Given the description of an element on the screen output the (x, y) to click on. 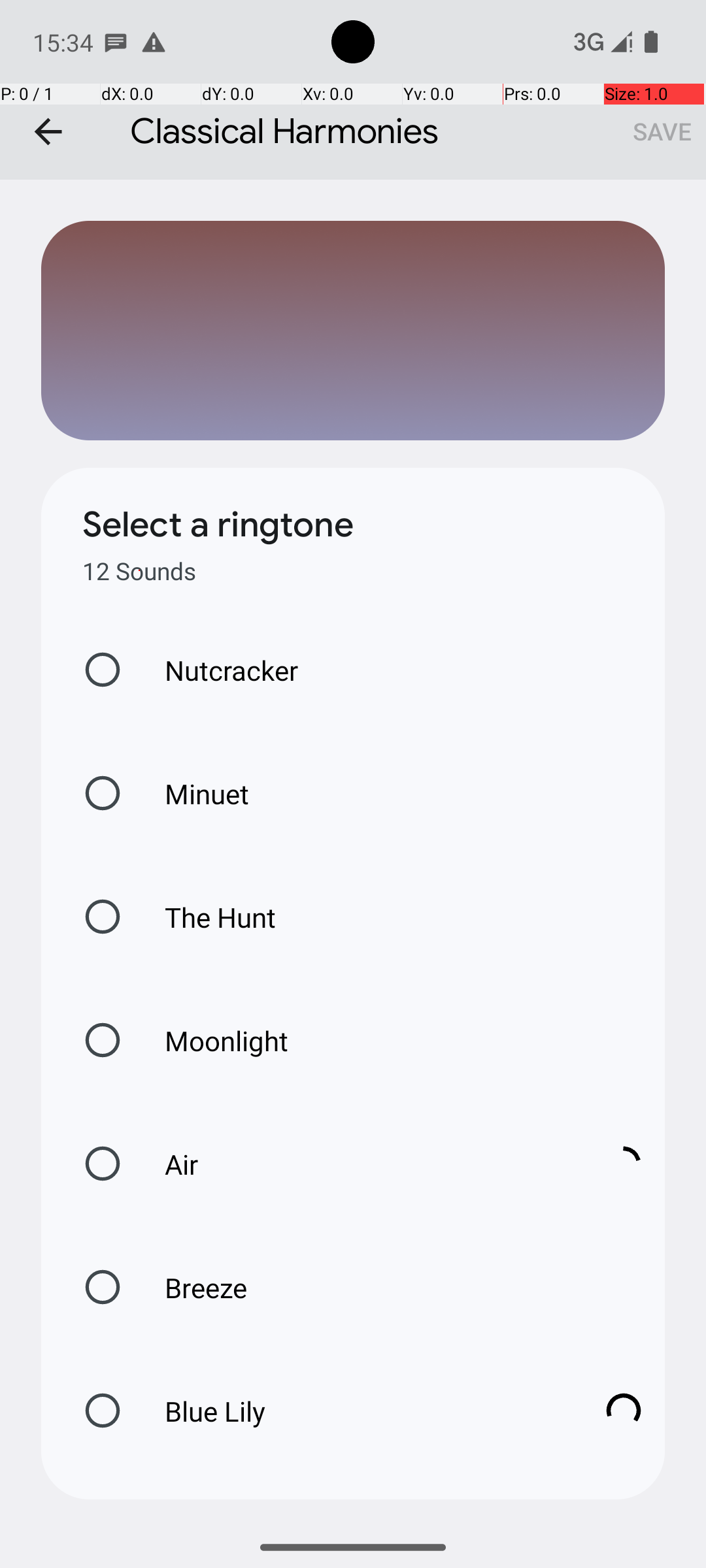
Classical Harmonies Element type: android.widget.FrameLayout (353, 89)
Select a ringtone Element type: android.widget.TextView (217, 524)
12 Sounds Element type: android.widget.TextView (139, 570)
Nutcracker Element type: android.widget.TextView (217, 669)
Minuet Element type: android.widget.TextView (193, 793)
The Hunt Element type: android.widget.TextView (206, 916)
Moonlight Element type: android.widget.TextView (212, 1040)
Air Element type: android.widget.TextView (359, 1163)
Download in progress Element type: android.widget.ImageView (623, 1163)
Breeze Element type: android.widget.TextView (192, 1287)
Blue Lily Element type: android.widget.TextView (359, 1410)
